Given the description of an element on the screen output the (x, y) to click on. 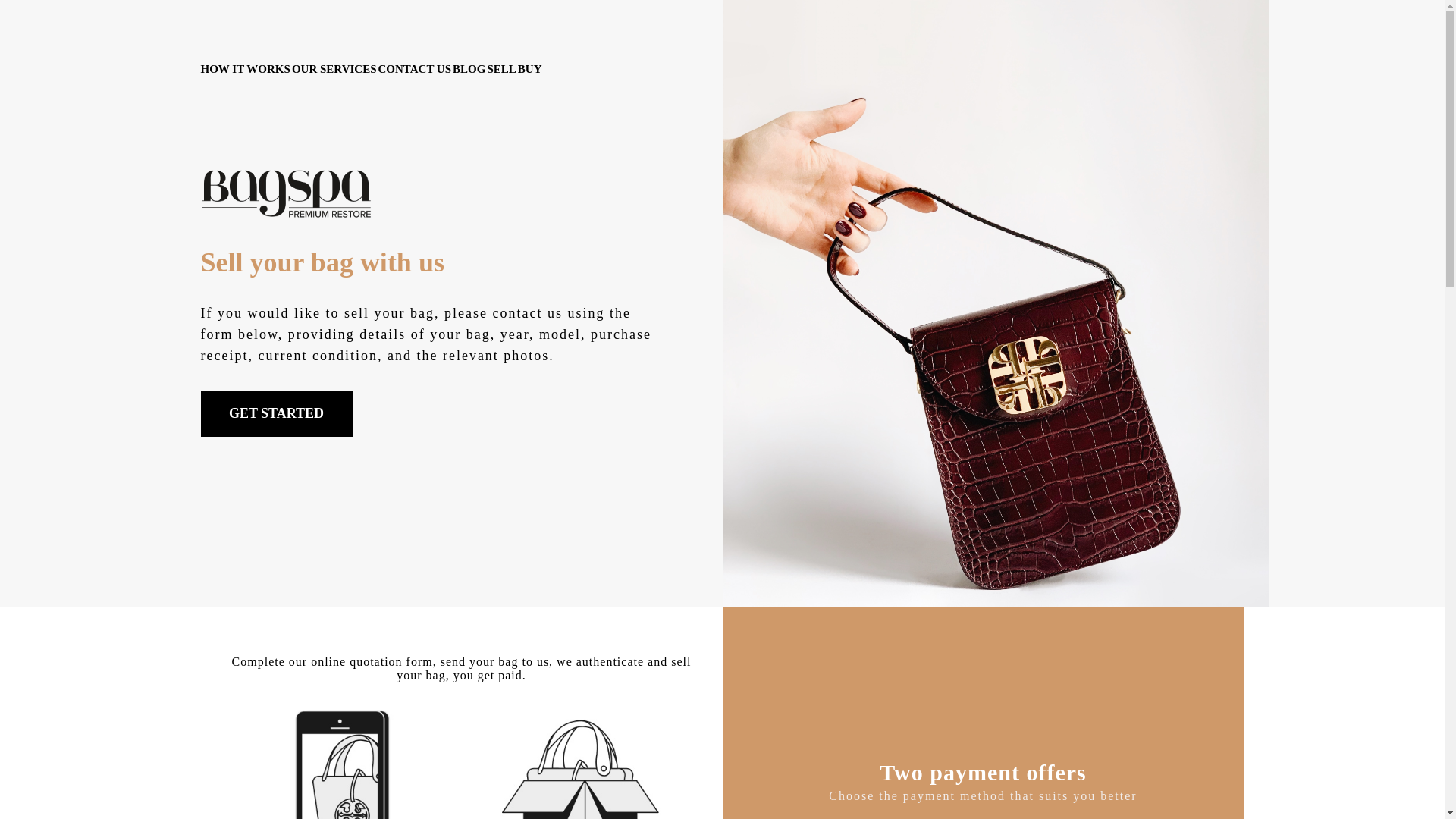
BUY (529, 69)
CONTACT US (414, 69)
OUR SERVICES (334, 69)
GET STARTED (276, 412)
HOW IT WORKS (244, 69)
SELL (500, 69)
BLOG (468, 69)
